Given the description of an element on the screen output the (x, y) to click on. 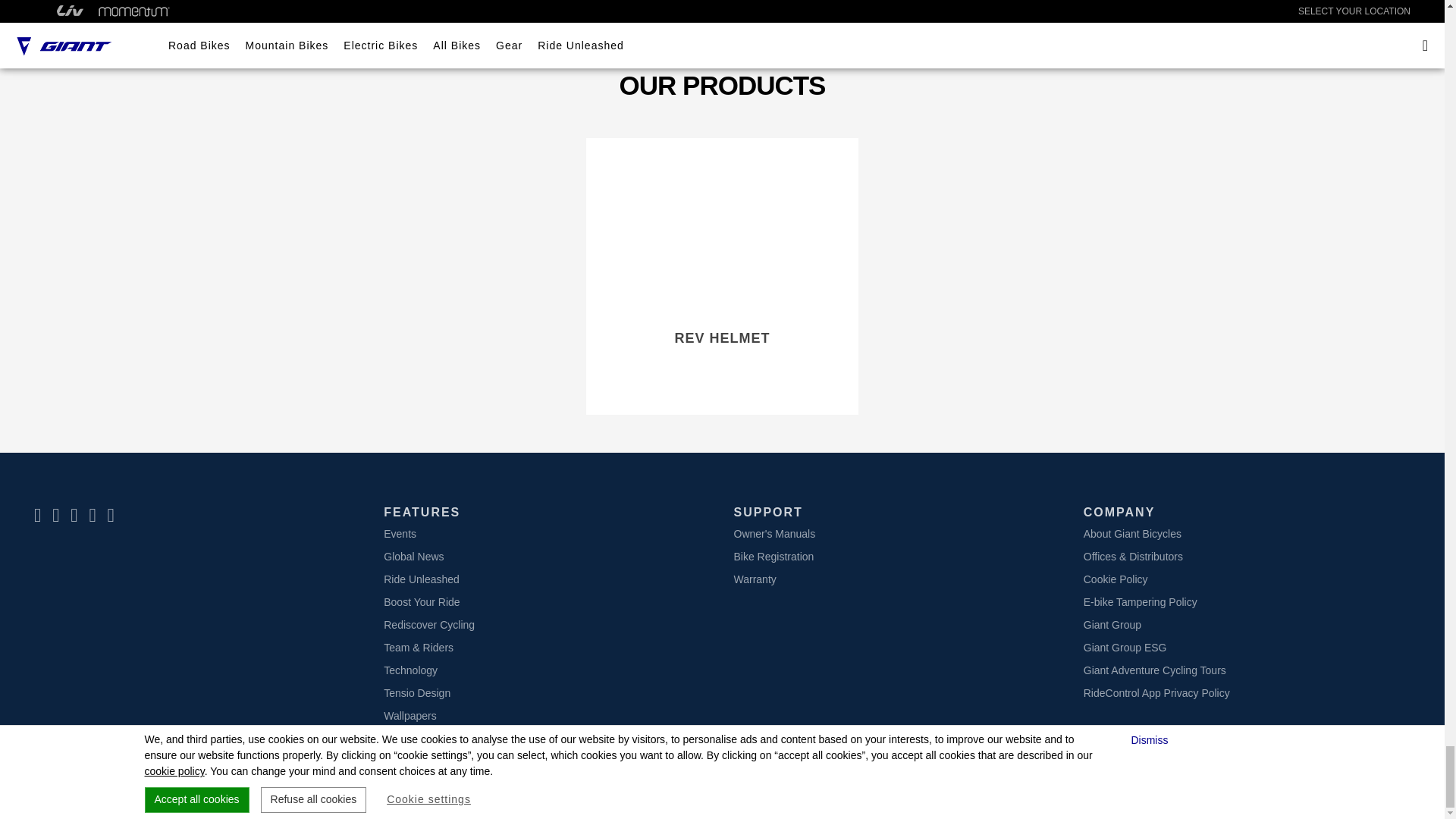
REV HELMET (721, 338)
Events (400, 533)
Rev Helmet (722, 229)
Global News (414, 556)
